Given the description of an element on the screen output the (x, y) to click on. 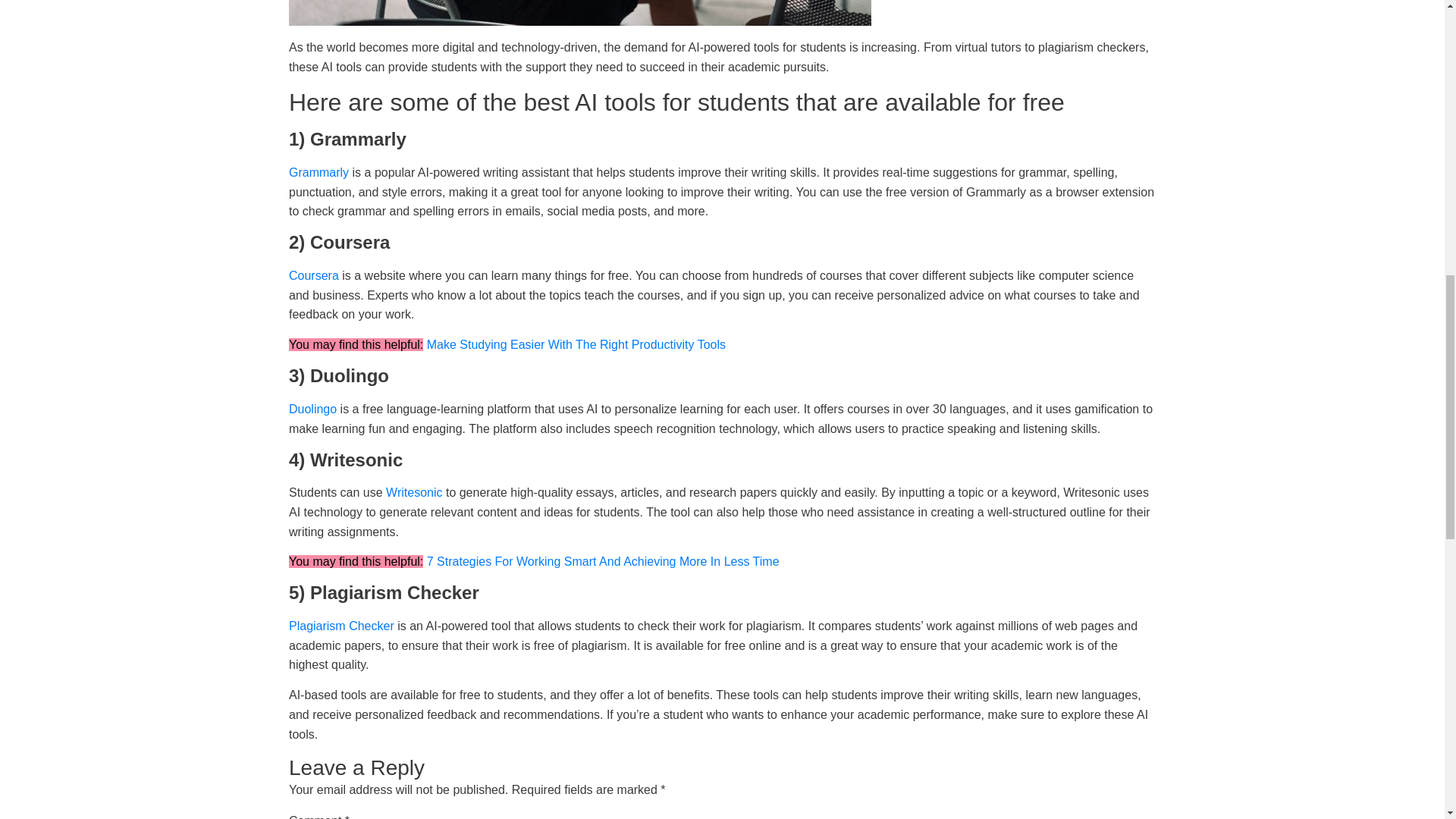
Plagiarism Checker (341, 625)
Duolingo (312, 408)
Make Studying Easier With The Right Productivity Tools (575, 344)
Coursera (313, 275)
Writesonic (413, 492)
Grammarly (318, 172)
